Given the description of an element on the screen output the (x, y) to click on. 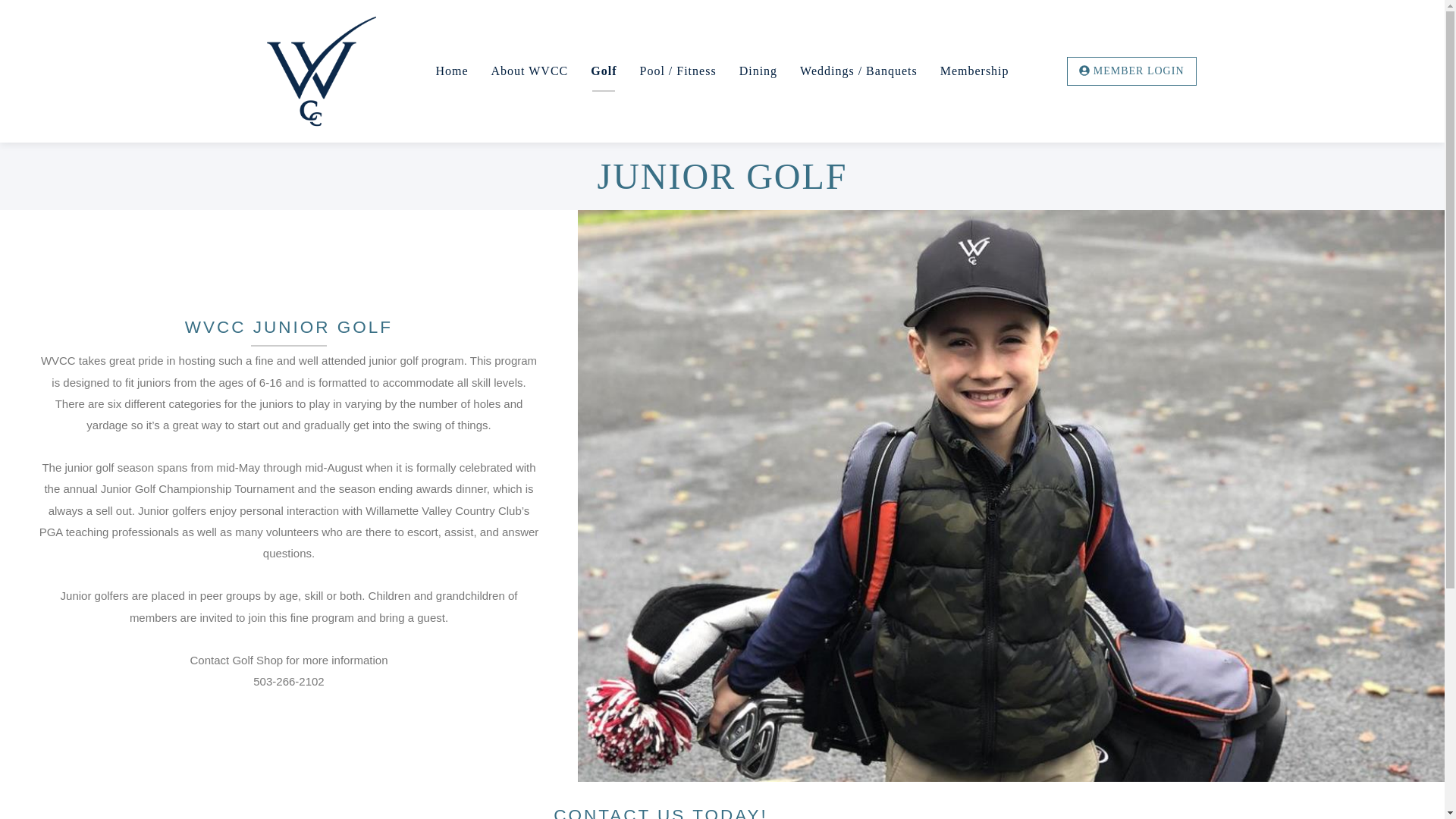
Home (319, 71)
About WVCC (529, 71)
Member Login (1131, 70)
